Given the description of an element on the screen output the (x, y) to click on. 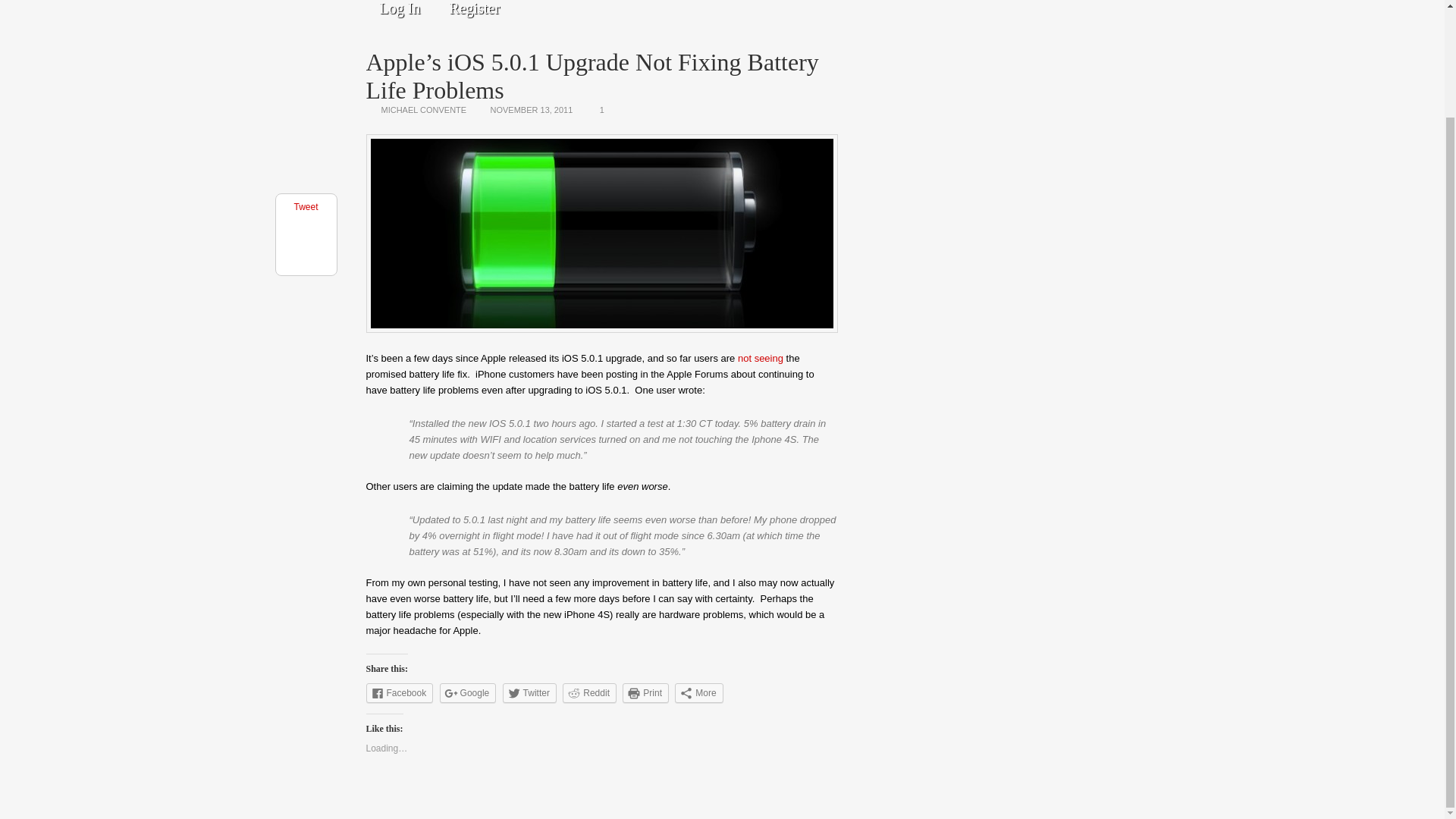
Click to share on Twitter (529, 692)
Google (467, 692)
Click to share on Reddit (588, 692)
Twitter (529, 692)
Register (474, 12)
Facebook (398, 692)
Log In (399, 12)
Click to print (645, 692)
Reddit (588, 692)
Click to share on Facebook (398, 692)
